Given the description of an element on the screen output the (x, y) to click on. 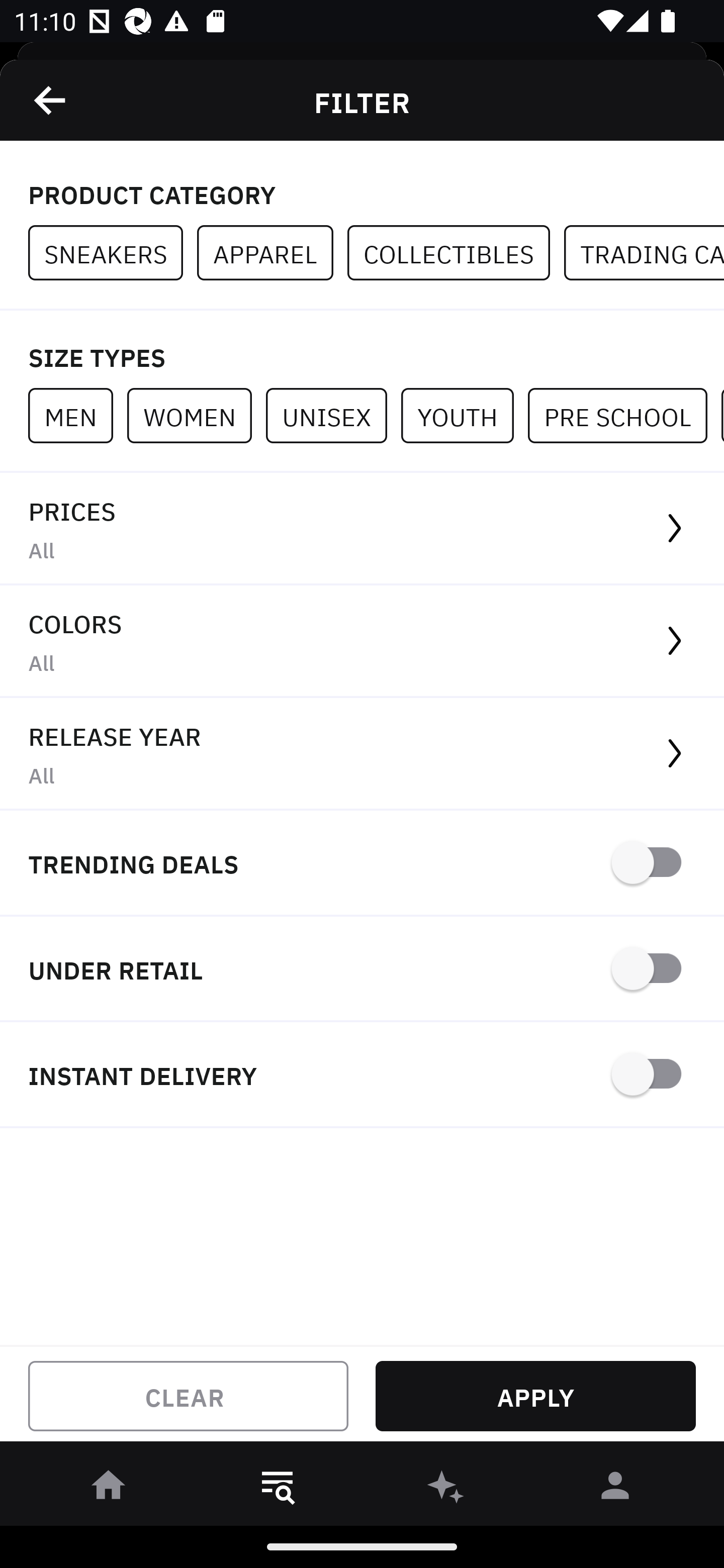
 (50, 100)
SNEAKERS (112, 252)
APPAREL (271, 252)
COLLECTIBLES (455, 252)
TRADING CARDS (643, 252)
MEN (77, 415)
WOMEN (196, 415)
UNISEX (333, 415)
YOUTH (464, 415)
PRE SCHOOL (624, 415)
PRICES All (362, 528)
COLORS All (362, 640)
RELEASE YEAR All (362, 753)
TRENDING DEALS (362, 863)
UNDER RETAIL (362, 969)
INSTANT DELIVERY (362, 1075)
CLEAR  (188, 1396)
APPLY (535, 1396)
󰋜 (108, 1488)
󱎸 (277, 1488)
󰫢 (446, 1488)
󰀄 (615, 1488)
